Given the description of an element on the screen output the (x, y) to click on. 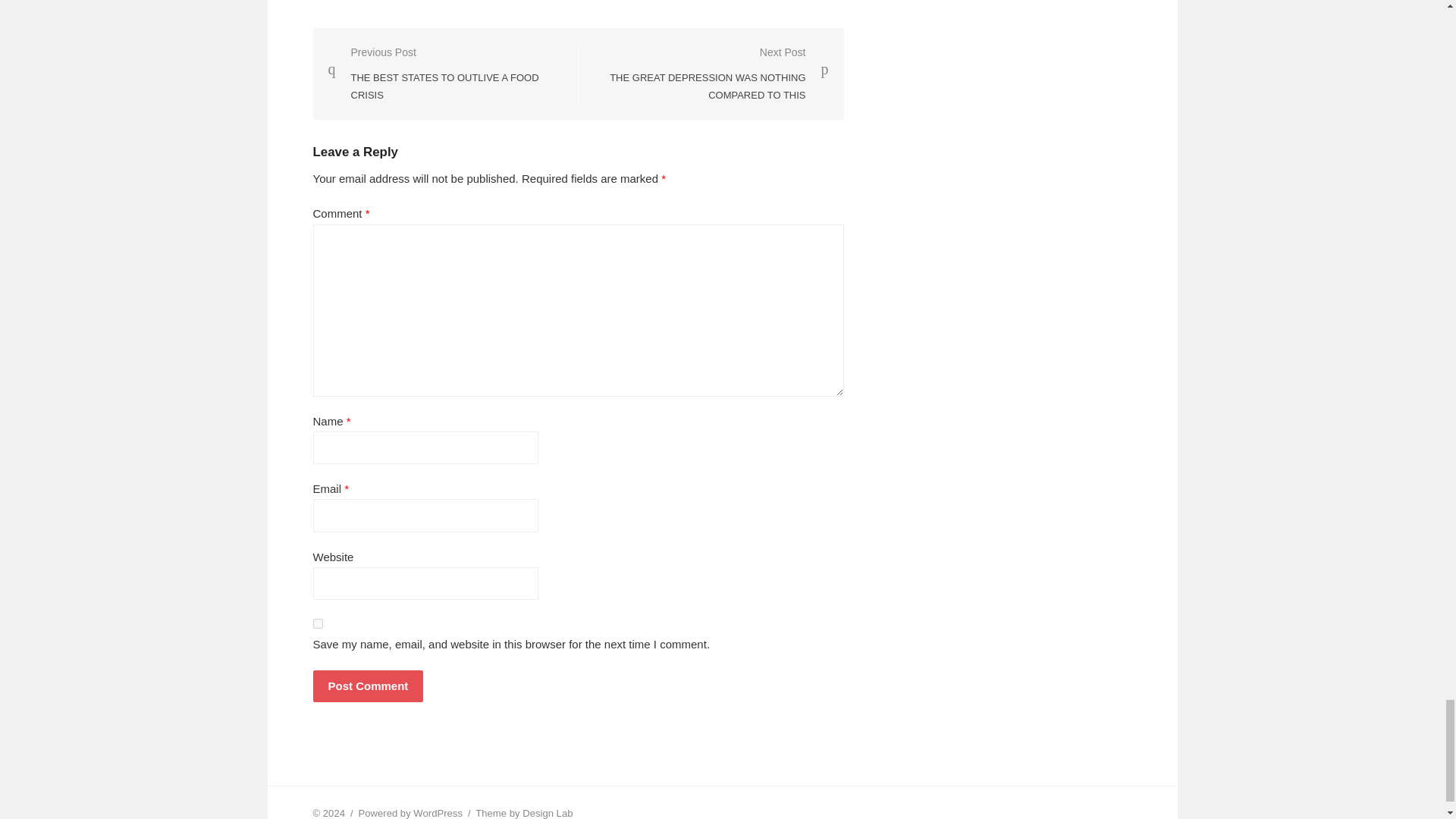
Post Comment (368, 686)
yes (317, 623)
